Given the description of an element on the screen output the (x, y) to click on. 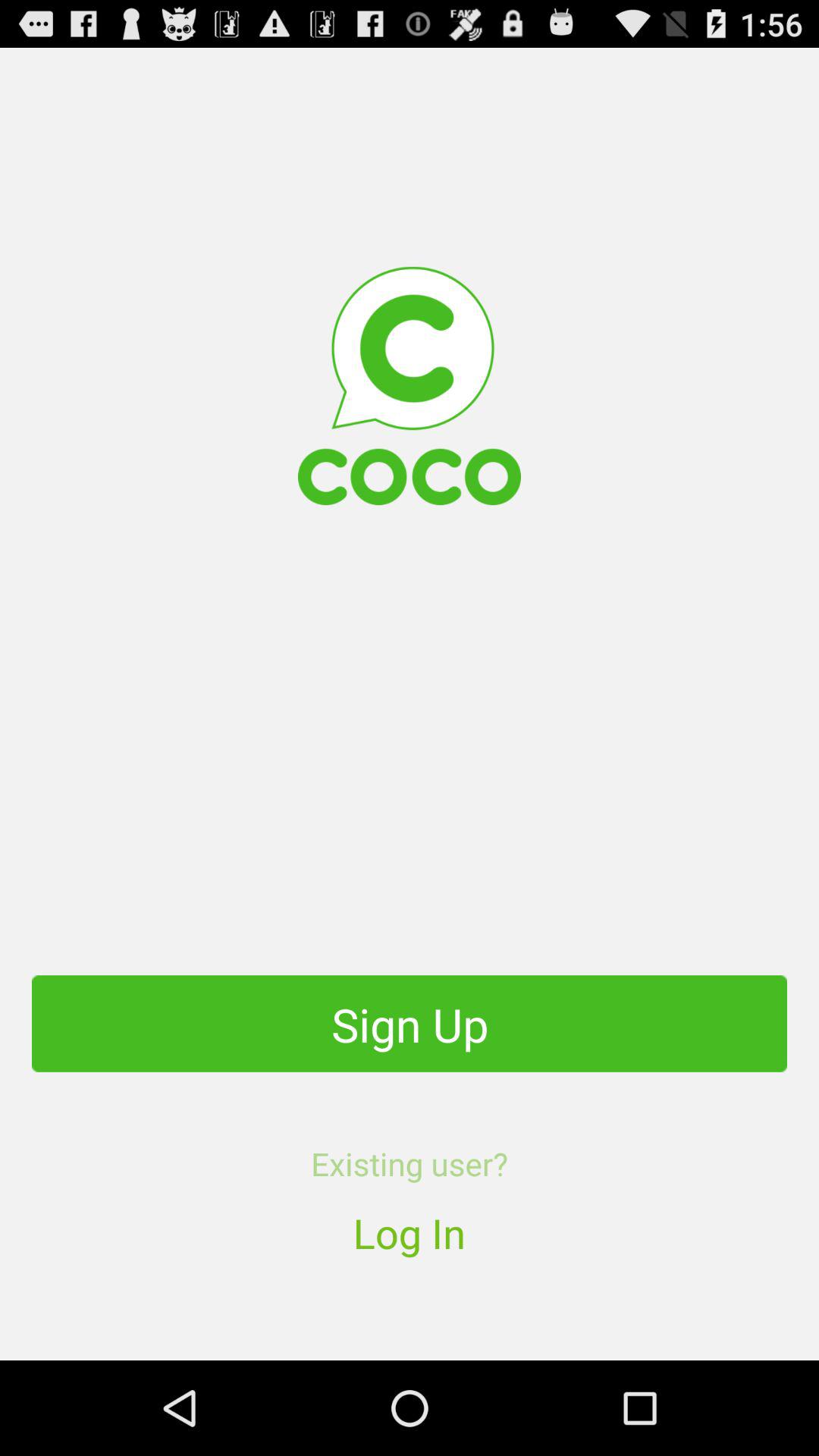
flip to sign up (409, 1023)
